Given the description of an element on the screen output the (x, y) to click on. 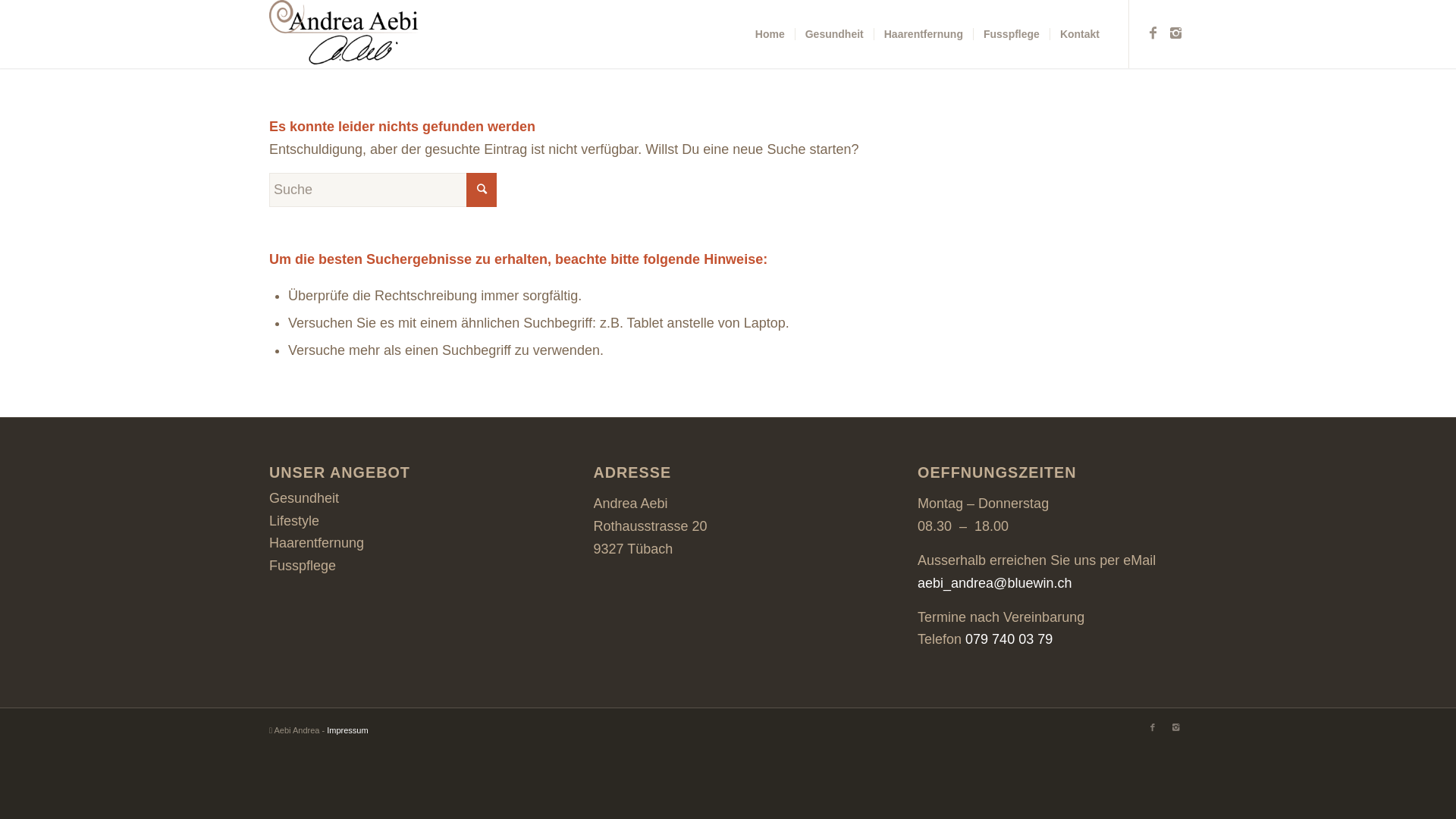
Fusspflege Element type: text (1010, 34)
Home Element type: text (769, 34)
Instagram Element type: hover (1175, 726)
Haarentfernung Element type: text (922, 34)
Gesundheit Element type: text (833, 34)
aebi_andrea@bluewin.ch Element type: text (994, 582)
Facebook Element type: hover (1152, 726)
Facebook Element type: hover (1152, 32)
Instagram Element type: hover (1175, 32)
Kontakt Element type: text (1079, 34)
Impressum Element type: text (346, 729)
079 740 03 79 Element type: text (1008, 638)
